Given the description of an element on the screen output the (x, y) to click on. 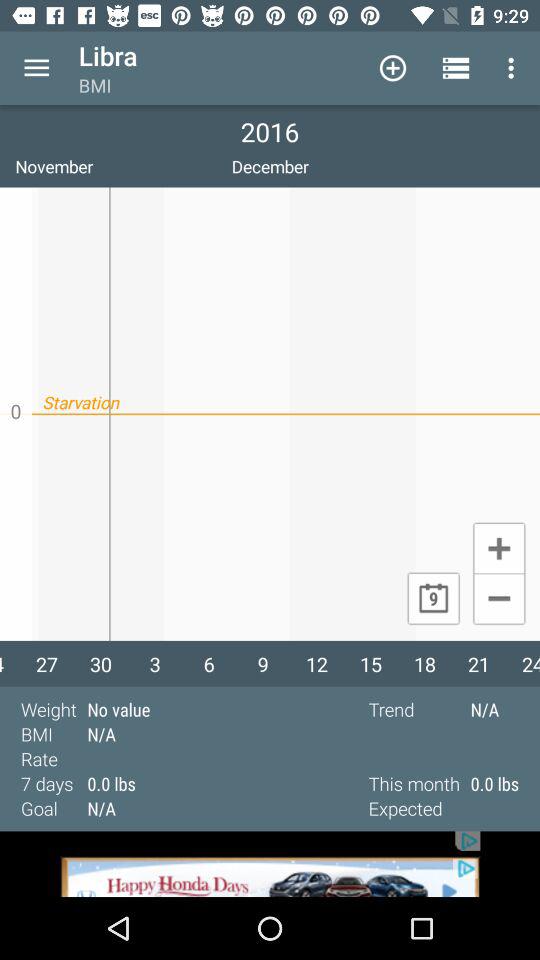
calculatar page (498, 599)
